Given the description of an element on the screen output the (x, y) to click on. 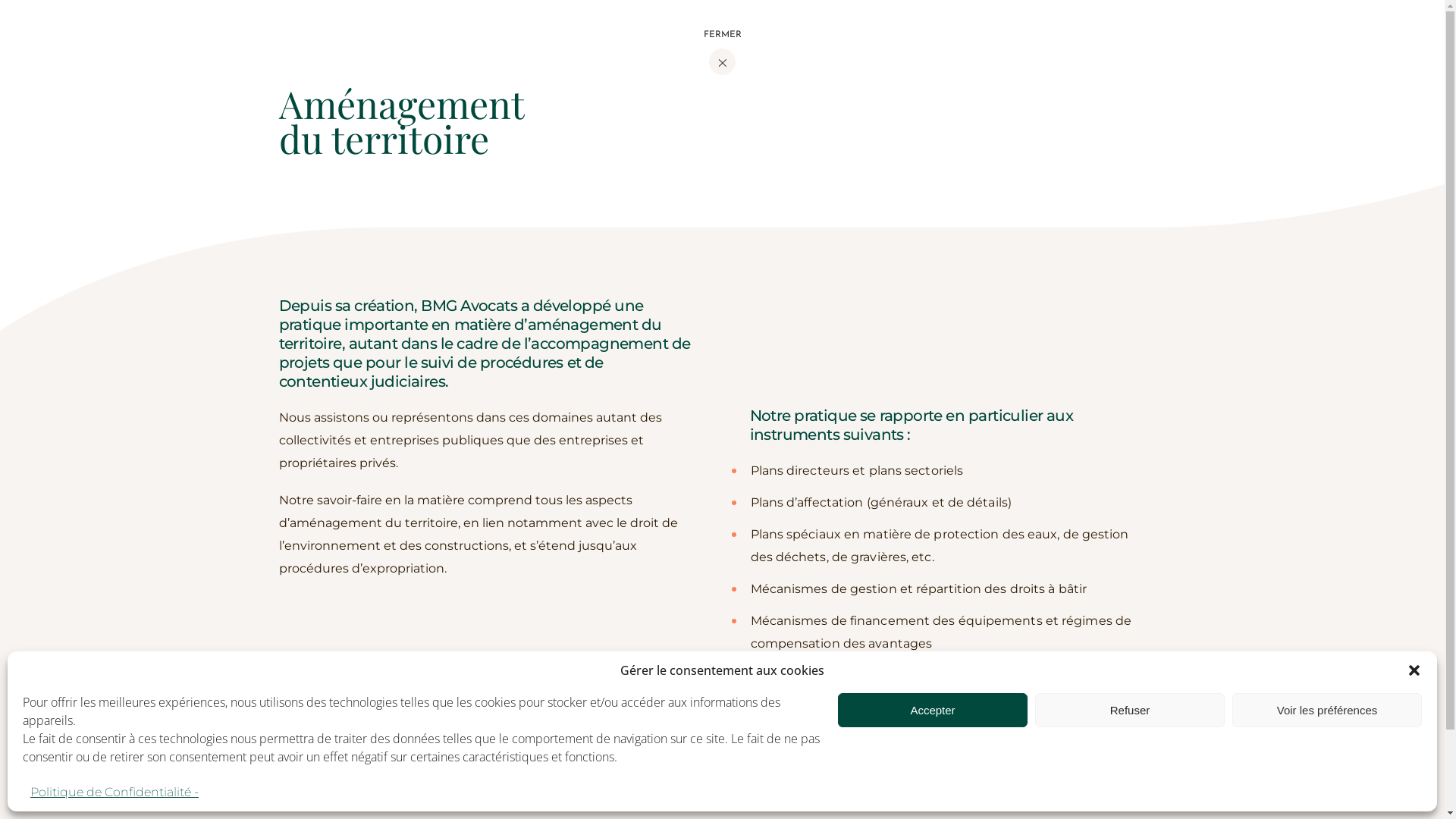
Accepter Element type: text (932, 710)
Refuser Element type: text (1129, 710)
angle-right
Nicolas
Wisard Element type: text (406, 770)
